Given the description of an element on the screen output the (x, y) to click on. 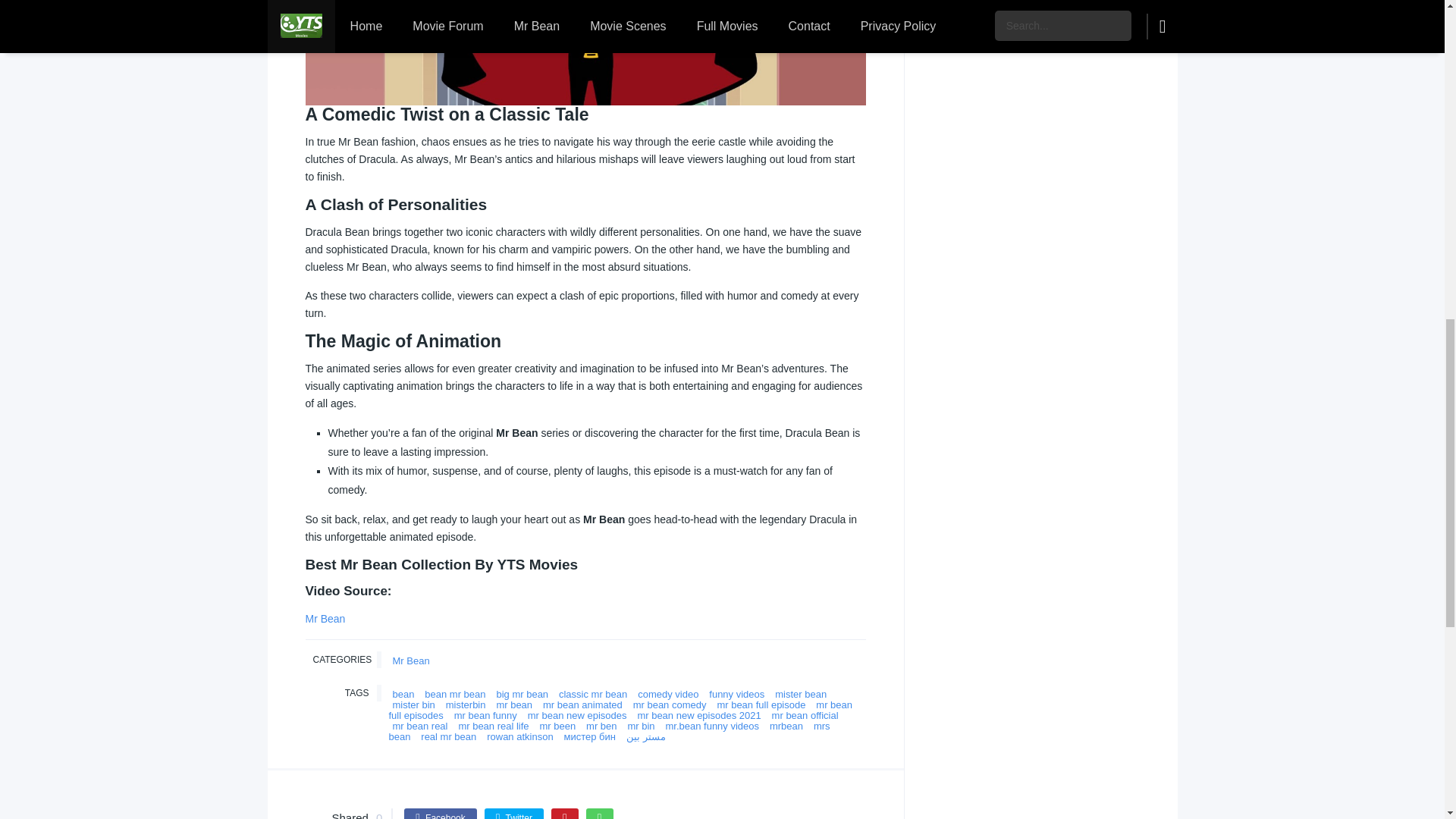
bean mr bean (454, 694)
classic mr bean (592, 694)
Mr Bean (410, 660)
Mr Bean (324, 618)
bean (402, 694)
big mr bean (521, 694)
